Given the description of an element on the screen output the (x, y) to click on. 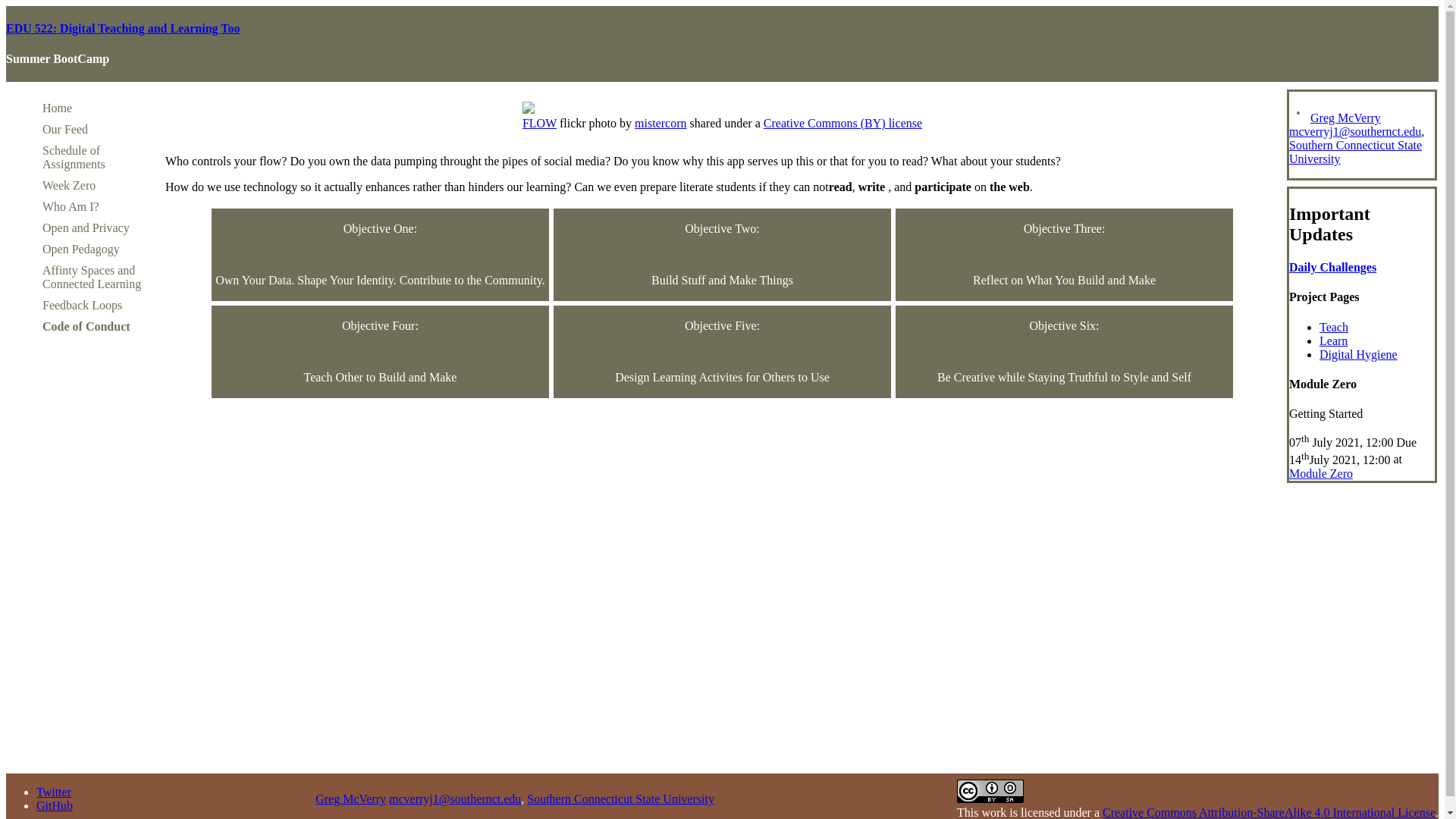
Open Pedagogy (80, 248)
Who Am I? (70, 205)
FLOW (539, 123)
Greg McVerry (350, 798)
GitHub (54, 805)
Learn (1333, 339)
Digital Hygiene (1358, 353)
Week Zero (69, 185)
Feedback Loops (82, 305)
Home (56, 107)
Code of Conduct (86, 326)
Southern Connecticut State University (1355, 151)
Teach (1333, 326)
Affinty Spaces and Connected Learning (91, 276)
Module Zero (1320, 472)
